Given the description of an element on the screen output the (x, y) to click on. 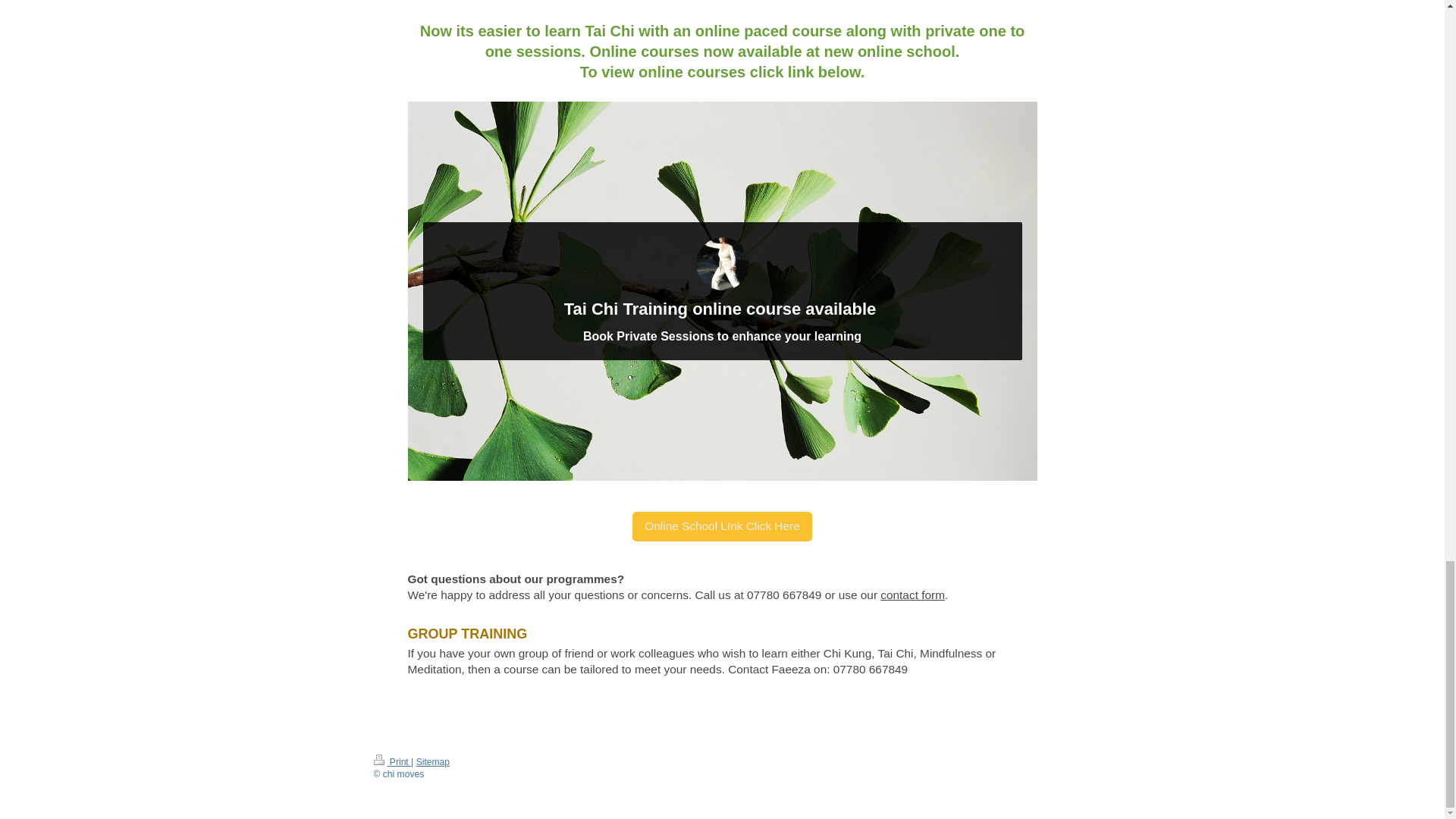
Online School LInk Click Here (720, 526)
